Given the description of an element on the screen output the (x, y) to click on. 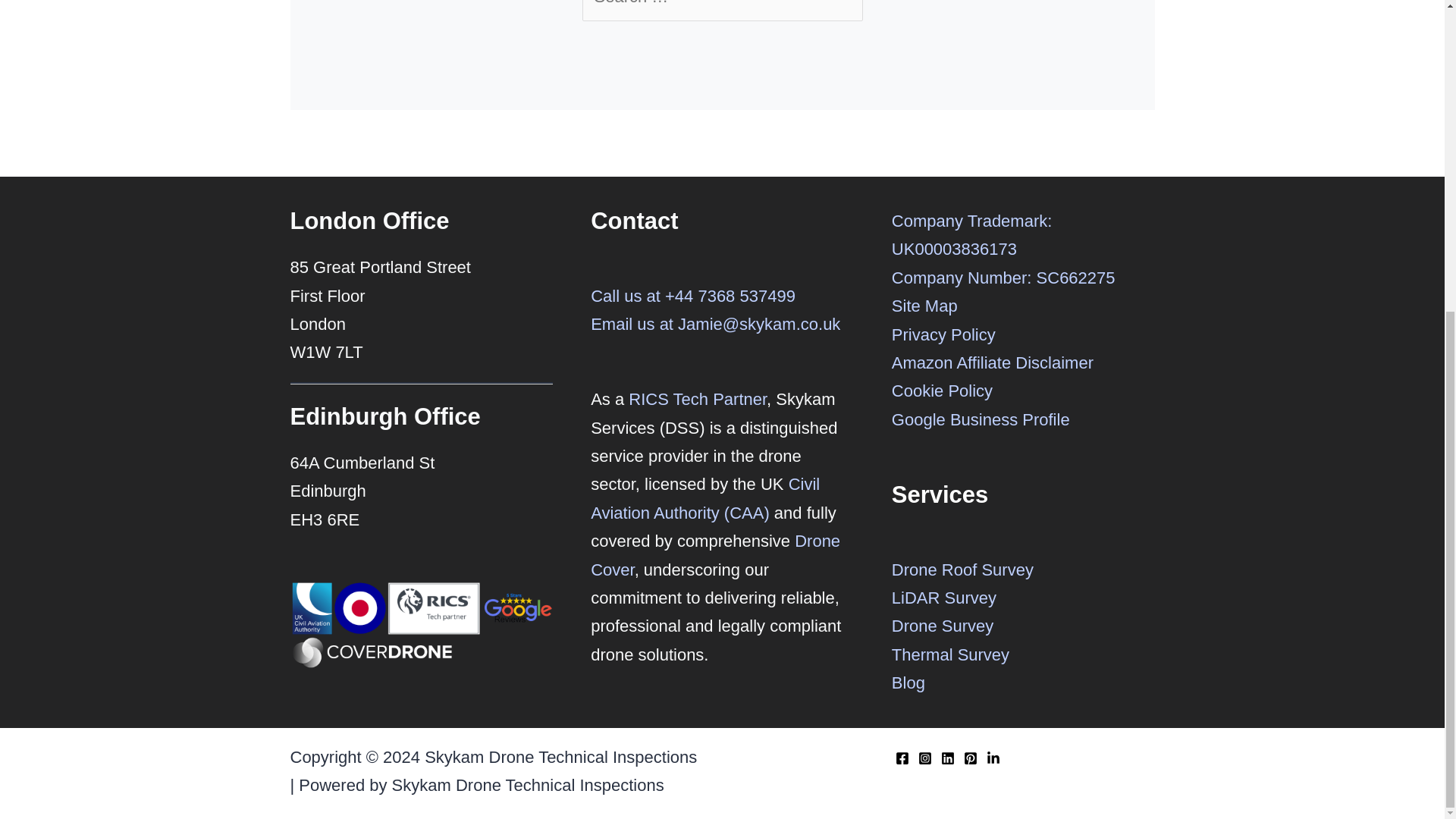
Search (844, 2)
Search (844, 2)
